Given the description of an element on the screen output the (x, y) to click on. 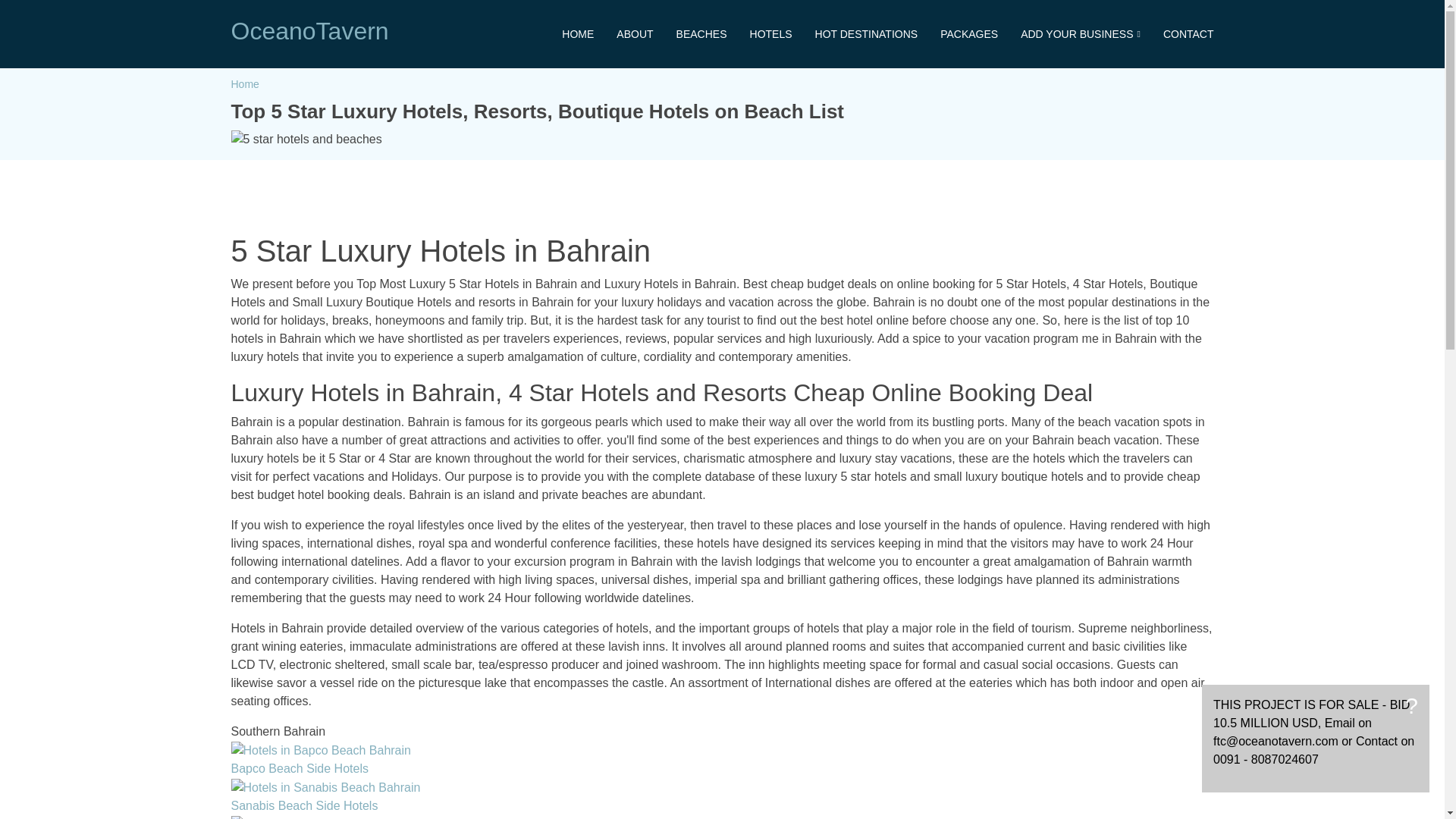
HOT DESTINATIONS (855, 33)
Sanabis Beach Side Hotels (303, 805)
HOME (566, 33)
ABOUT (623, 33)
BEACHES (689, 33)
ADD YOUR BUSINESS (1068, 33)
BEACHES (689, 33)
HOTELS (759, 33)
Bapco Beach Side Hotels (299, 768)
HOME (566, 33)
OceanoTavern (309, 31)
PACKAGES (957, 33)
CONTACT (1177, 33)
Home (244, 83)
HOT DESTINATIONS (855, 33)
